Given the description of an element on the screen output the (x, y) to click on. 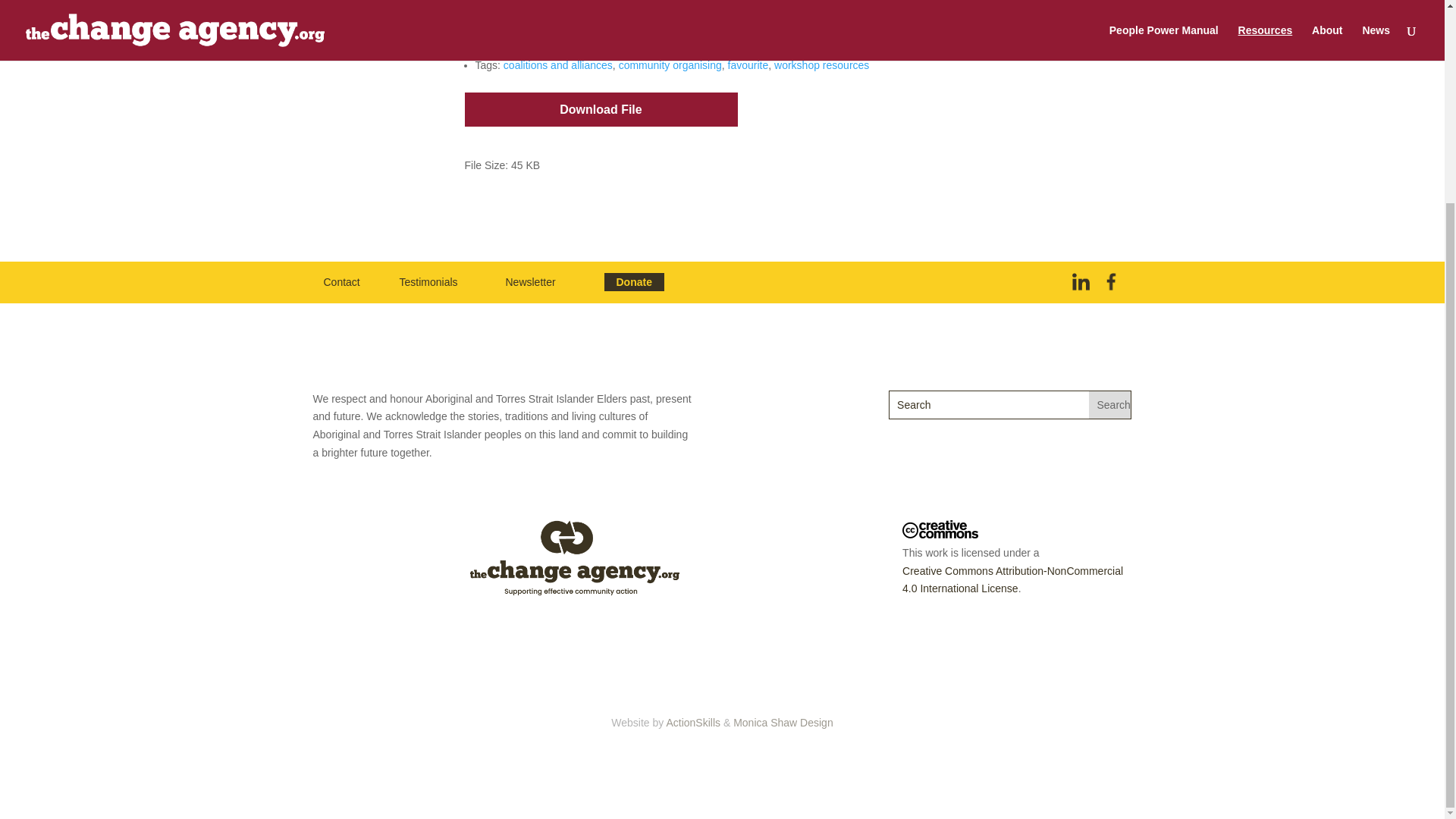
Search (1110, 404)
Donate (633, 281)
favourite (748, 64)
coalitions and alliances (557, 64)
Download File (600, 109)
community organising (670, 64)
TCA-desktop-footer (574, 558)
Contact (341, 282)
ActionSkills (692, 722)
Newsletter (529, 282)
